Given the description of an element on the screen output the (x, y) to click on. 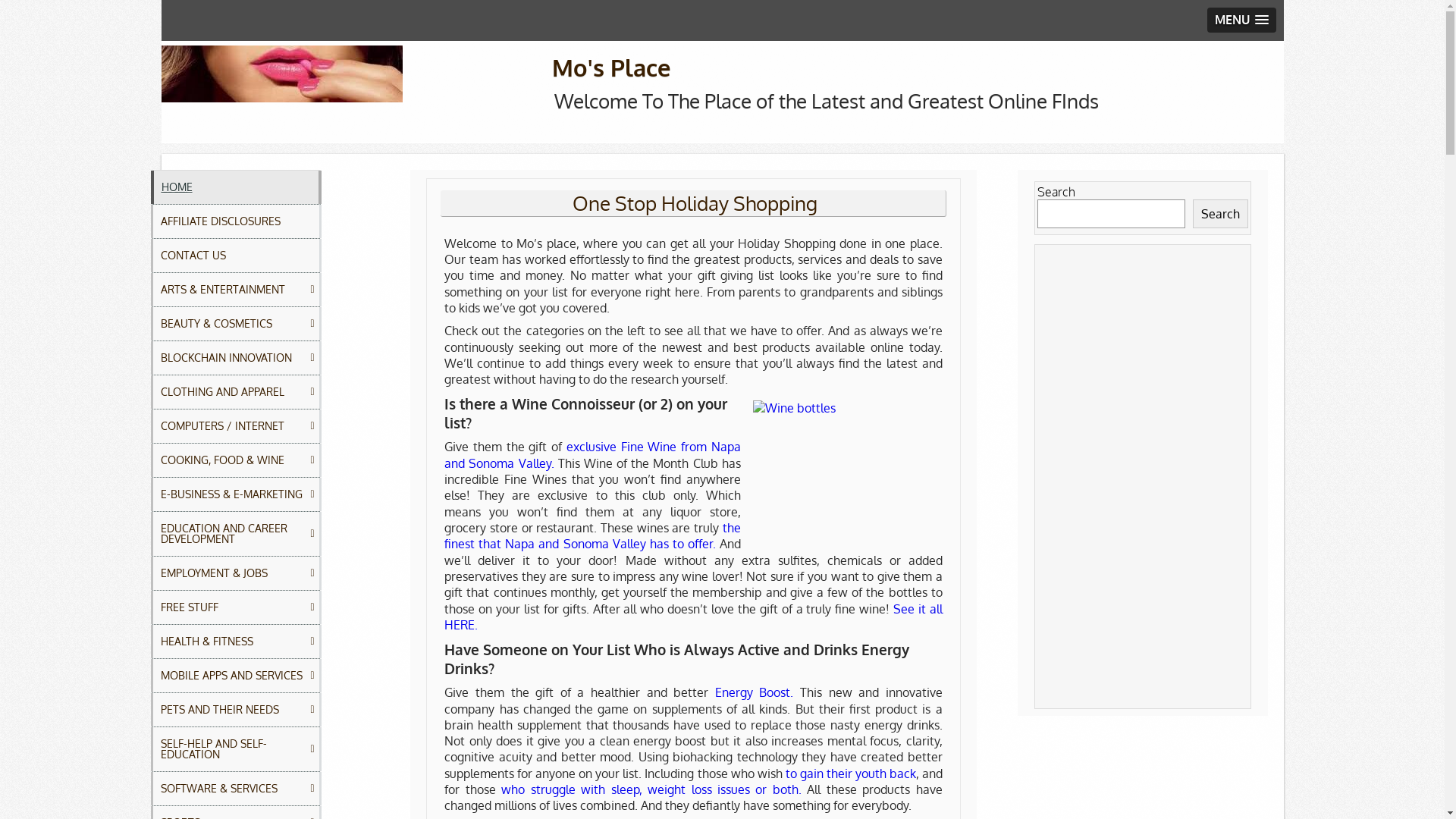
One Stop Holiday Shopping Element type: text (694, 203)
FREE STUFF Element type: text (235, 607)
BEAUTY & COSMETICS Element type: text (235, 323)
AFFILIATE DISCLOSURES Element type: text (235, 221)
to gain their youth back Element type: text (850, 773)
exclusive Fine Wine from Napa and Sonoma Valley. Element type: text (592, 454)
Search Element type: text (1220, 213)
PETS AND THEIR NEEDS Element type: text (235, 709)
the finest that Napa and Sonoma Valley has to offer. Element type: text (592, 535)
ARTS & ENTERTAINMENT Element type: text (235, 289)
COOKING, FOOD & WINE Element type: text (235, 459)
Mo's Place Element type: text (611, 66)
MENU Element type: text (1241, 19)
E-BUSINESS & E-MARKETING Element type: text (235, 494)
BLOCKCHAIN INNOVATION Element type: text (235, 357)
who struggle with sleep, weight loss issues or both. Element type: text (651, 789)
See it all HERE. Element type: text (692, 616)
HEALTH & FITNESS Element type: text (235, 641)
SELF-HELP AND SELF-EDUCATION Element type: text (235, 749)
CLOTHING AND APPAREL Element type: text (235, 391)
Energy Boost. Element type: text (754, 691)
CONTACT US Element type: text (235, 255)
COMPUTERS / INTERNET Element type: text (235, 425)
SOFTWARE & SERVICES Element type: text (235, 788)
EDUCATION AND CAREER DEVELOPMENT Element type: text (235, 533)
HOME Element type: text (235, 186)
MOBILE APPS AND SERVICES Element type: text (235, 675)
EMPLOYMENT & JOBS Element type: text (235, 572)
Skip to content Element type: text (160, 40)
